Given the description of an element on the screen output the (x, y) to click on. 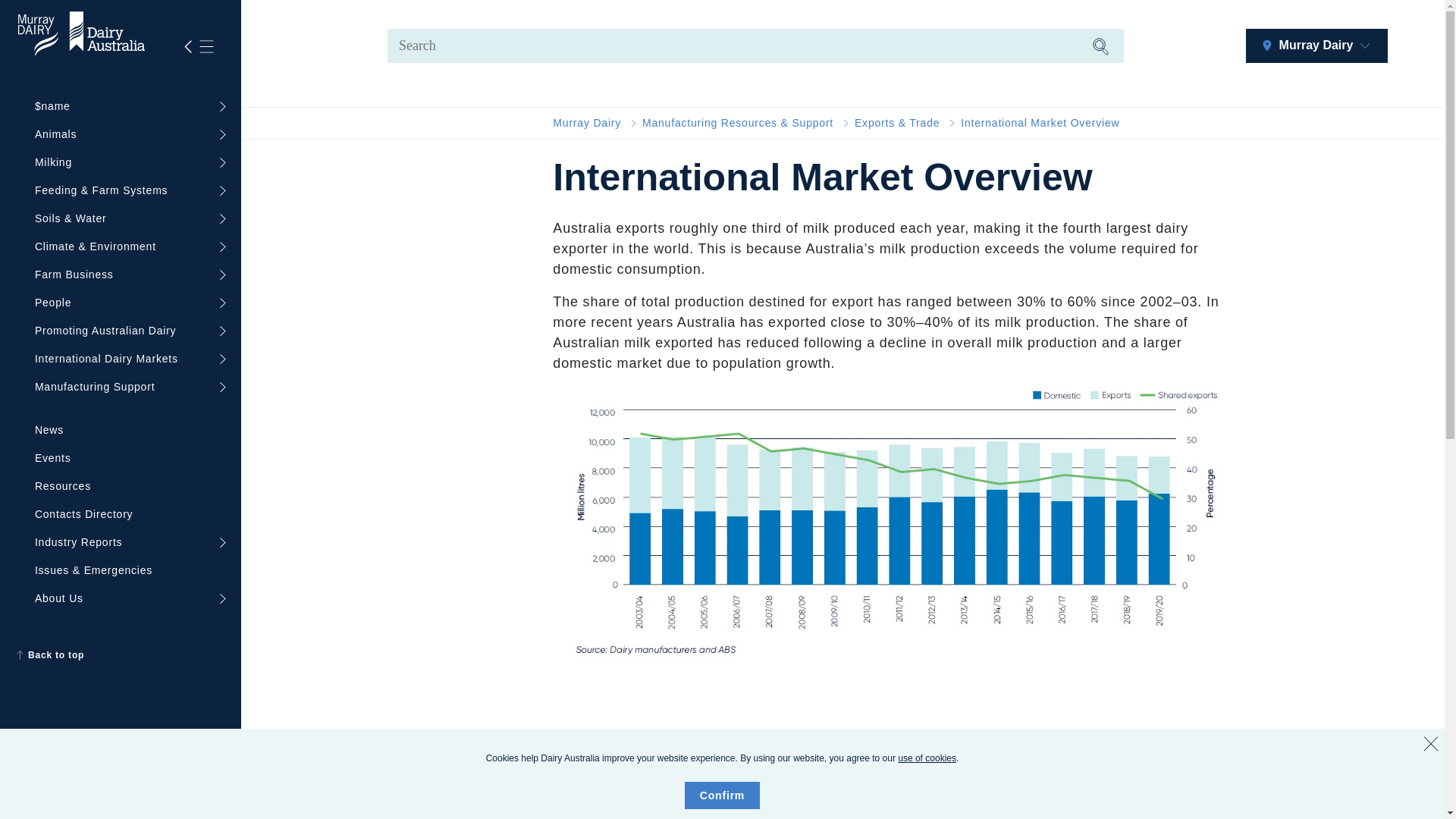
International Market Overview (1039, 122)
Exports and Trade (896, 122)
Home (587, 122)
Manufacturing Resources and Support - OLD VERSION (737, 122)
